Given the description of an element on the screen output the (x, y) to click on. 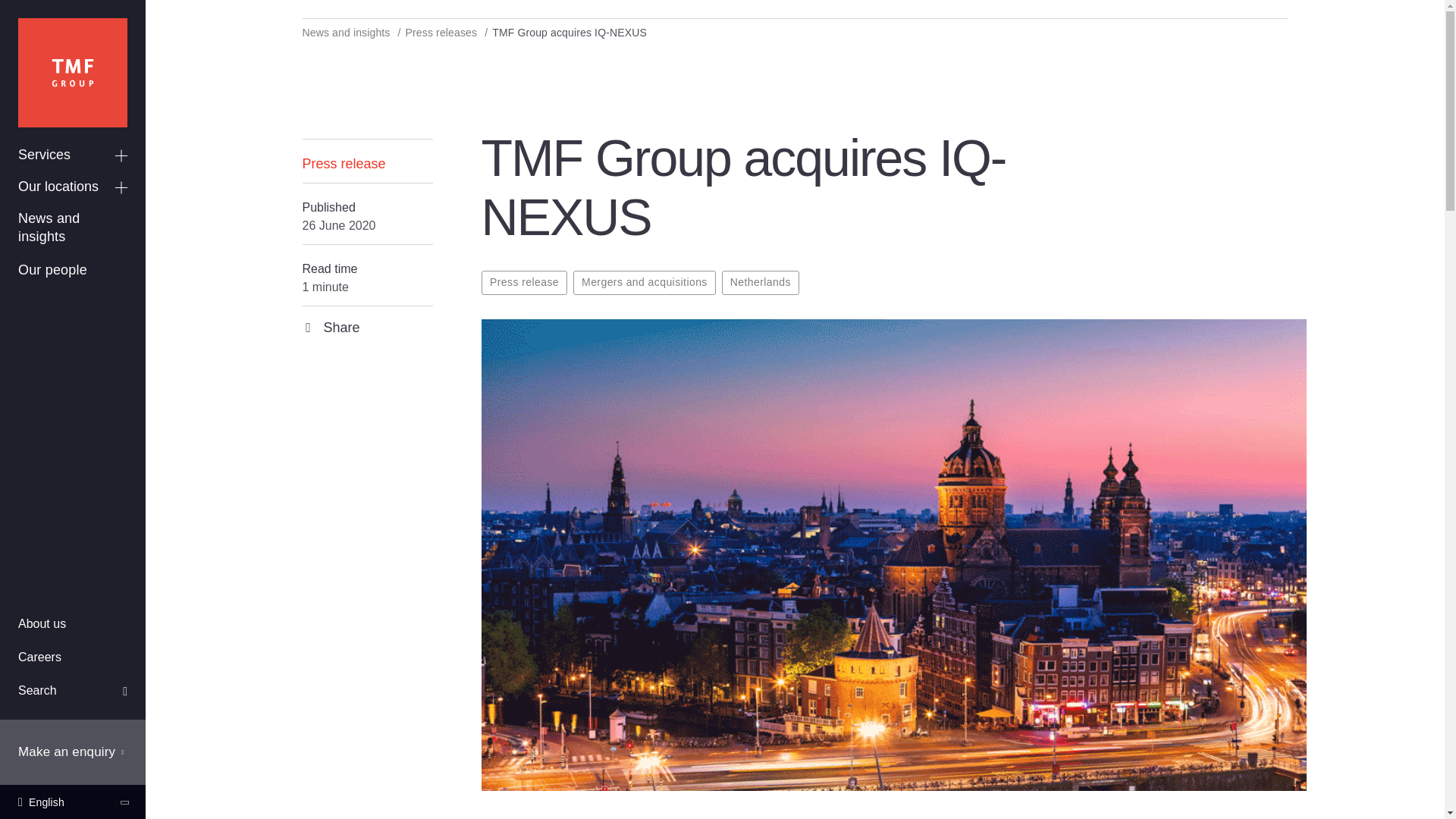
Close menu (124, 21)
News and insights (347, 32)
Careers (72, 658)
Language (72, 801)
Mergers and acquisitions (644, 282)
Press releases (443, 32)
English (72, 801)
Services (72, 155)
News and insights (72, 228)
Search (72, 691)
